Given the description of an element on the screen output the (x, y) to click on. 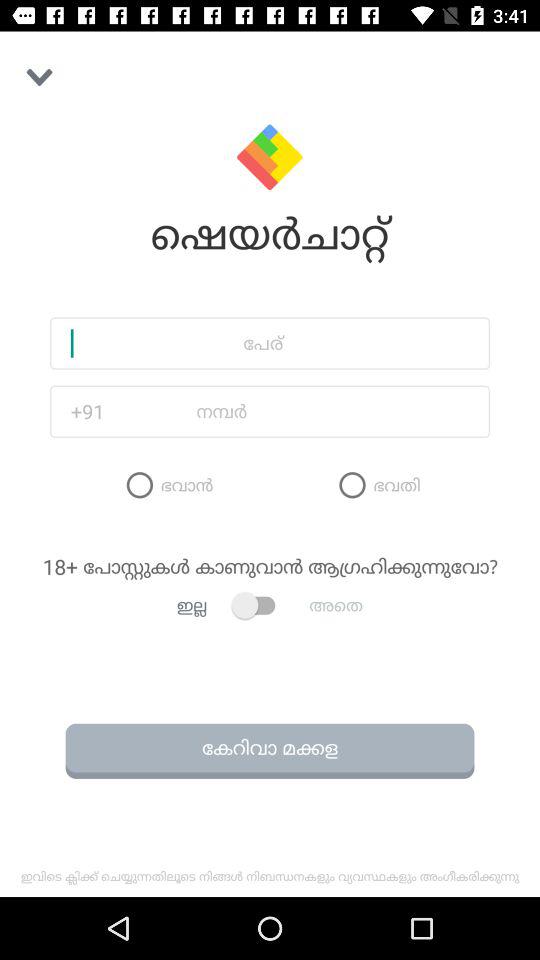
select the 2nd option on the right side of the web page (376, 484)
click the button on the top left corner of the web page (38, 76)
